Given the description of an element on the screen output the (x, y) to click on. 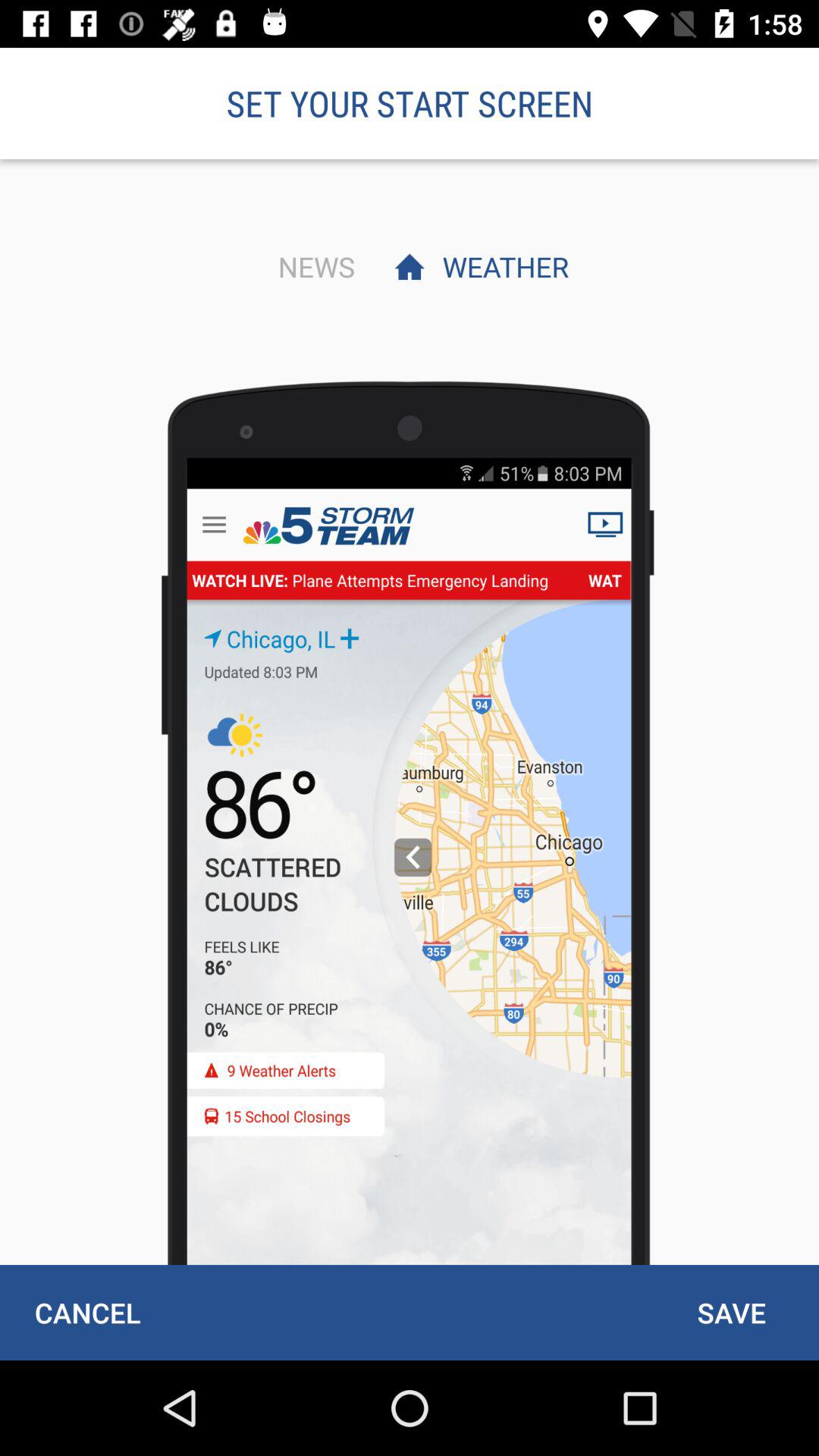
scroll until set your start item (409, 103)
